Given the description of an element on the screen output the (x, y) to click on. 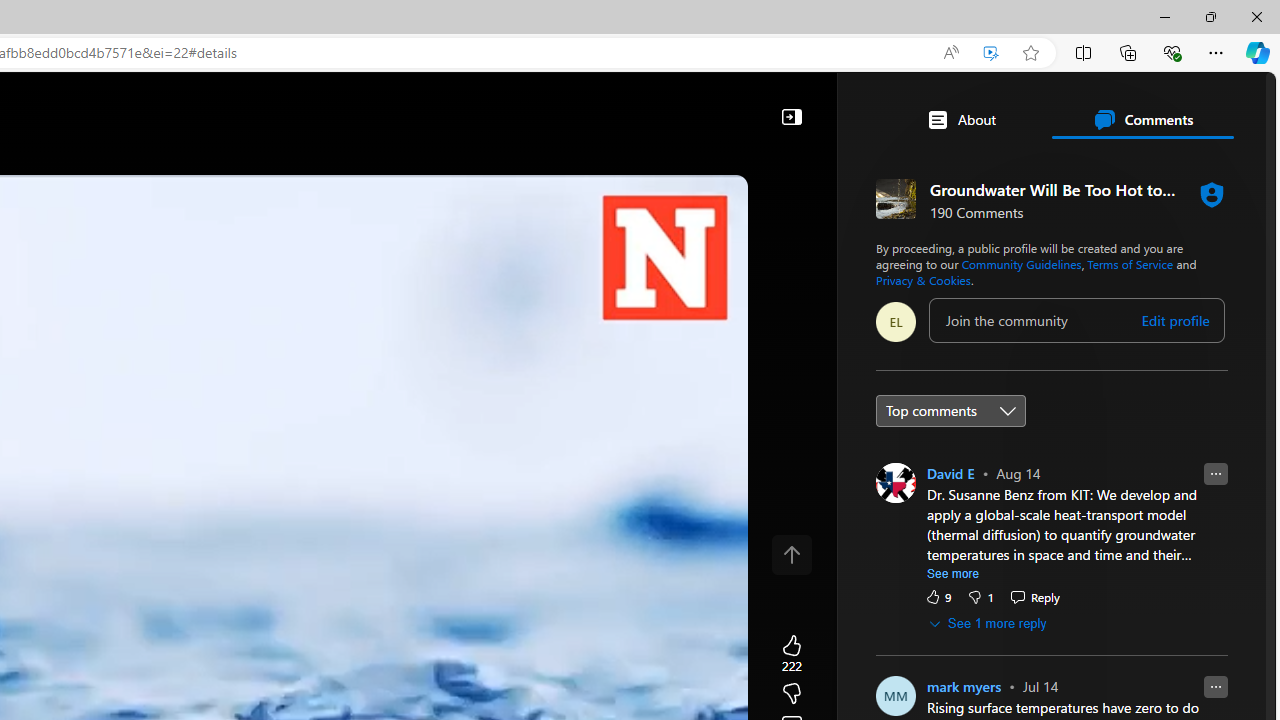
9 Like (938, 596)
ABC News (777, 557)
Class: control icon-only (791, 554)
Open settings (1231, 105)
Open Copilot (356, 105)
About (961, 119)
